Given the description of an element on the screen output the (x, y) to click on. 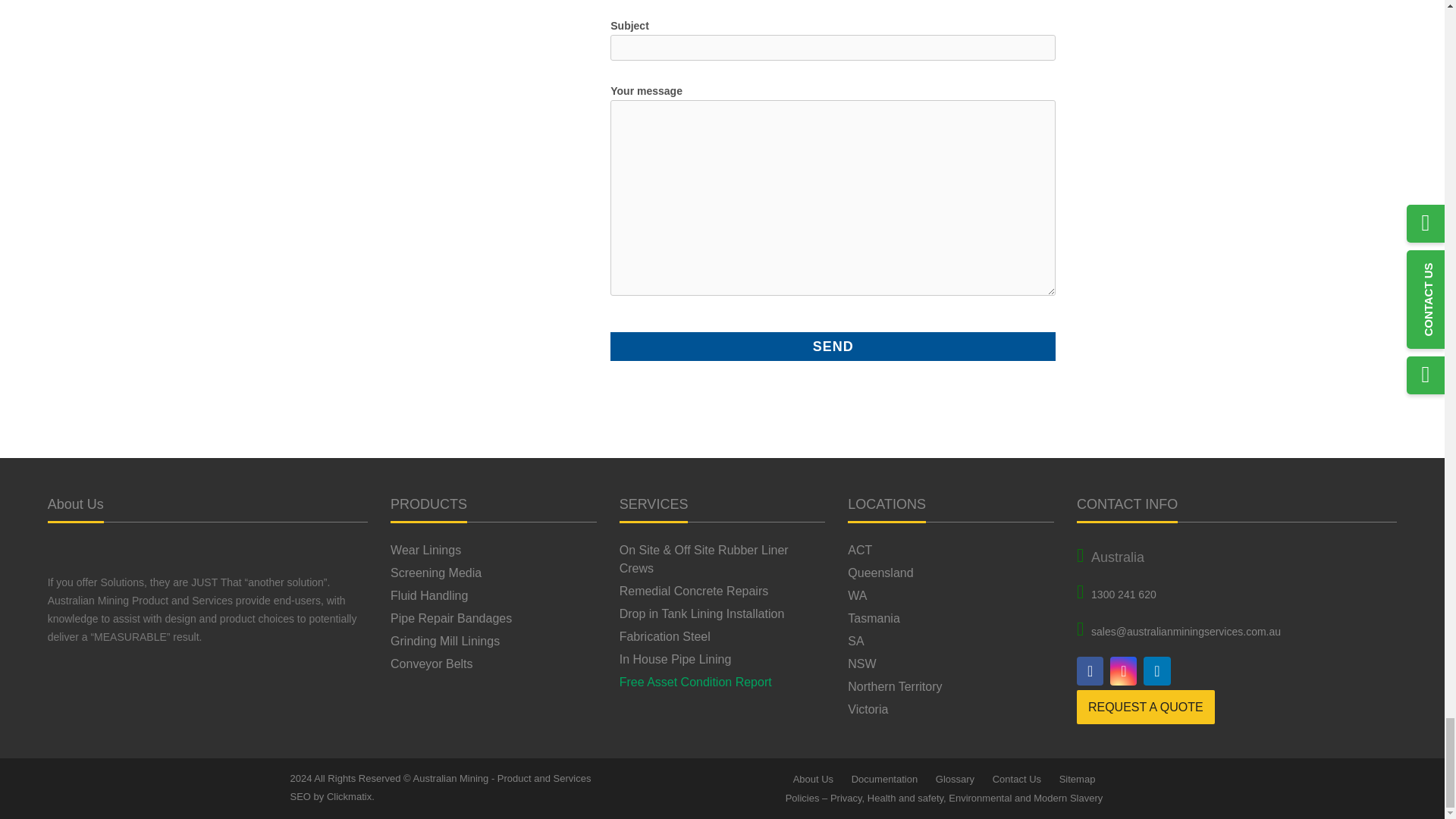
Send (832, 346)
